Given the description of an element on the screen output the (x, y) to click on. 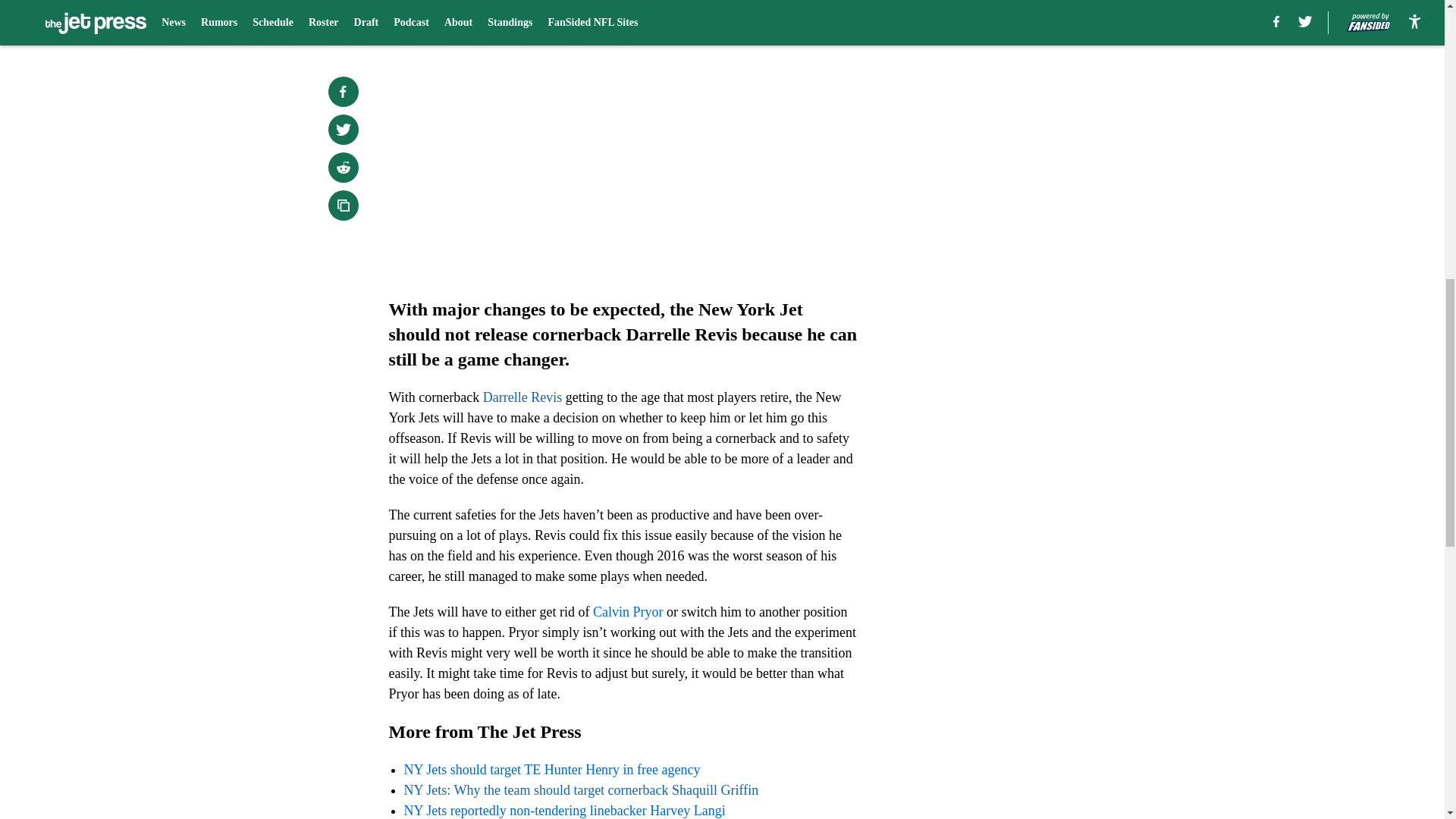
Darrelle Revis (522, 396)
Calvin Pryor (627, 611)
NY Jets reportedly non-tendering linebacker Harvey Langi (564, 810)
NY Jets should target TE Hunter Henry in free agency (551, 769)
